Given the description of an element on the screen output the (x, y) to click on. 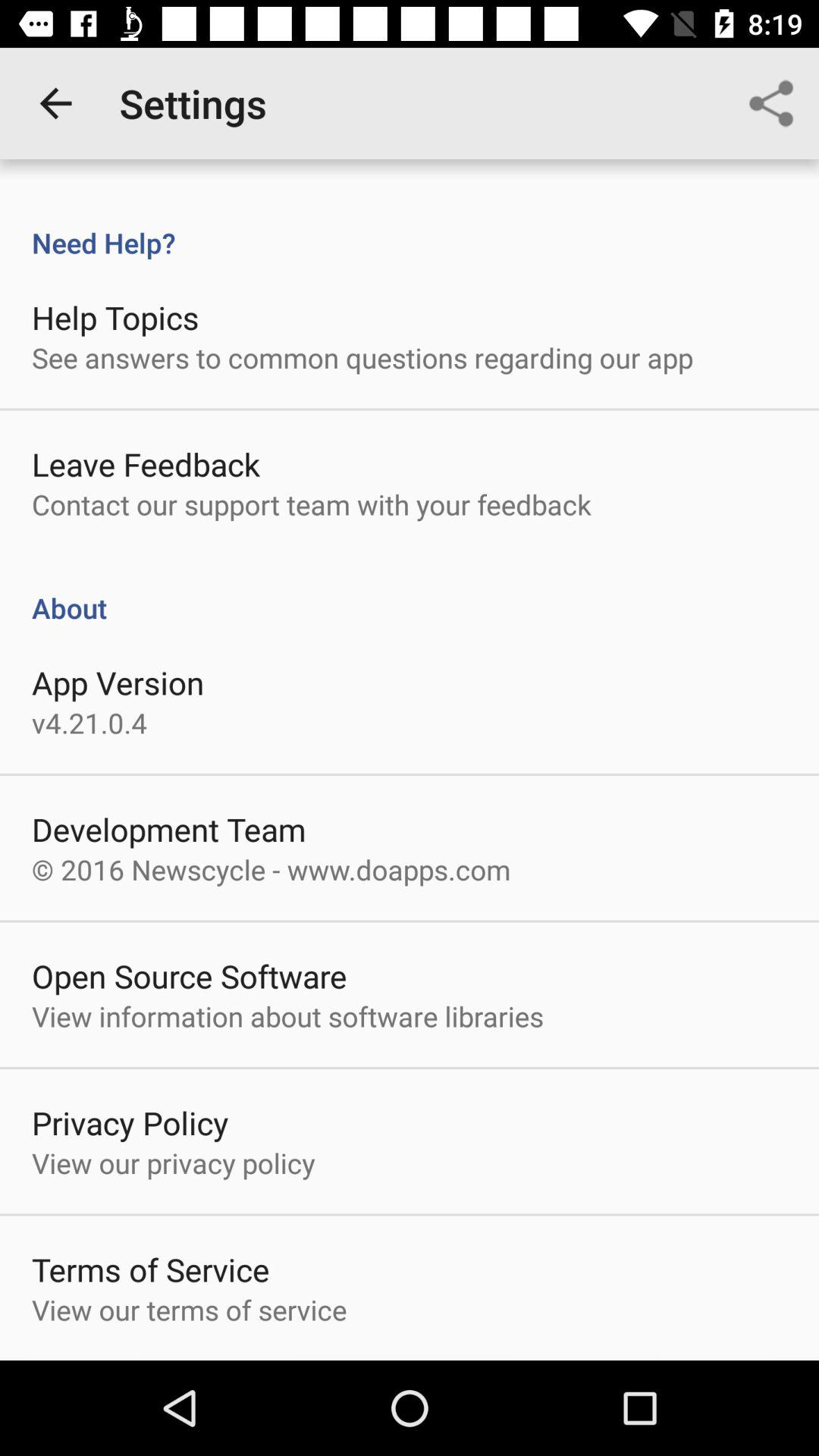
scroll to the open source software item (188, 975)
